Given the description of an element on the screen output the (x, y) to click on. 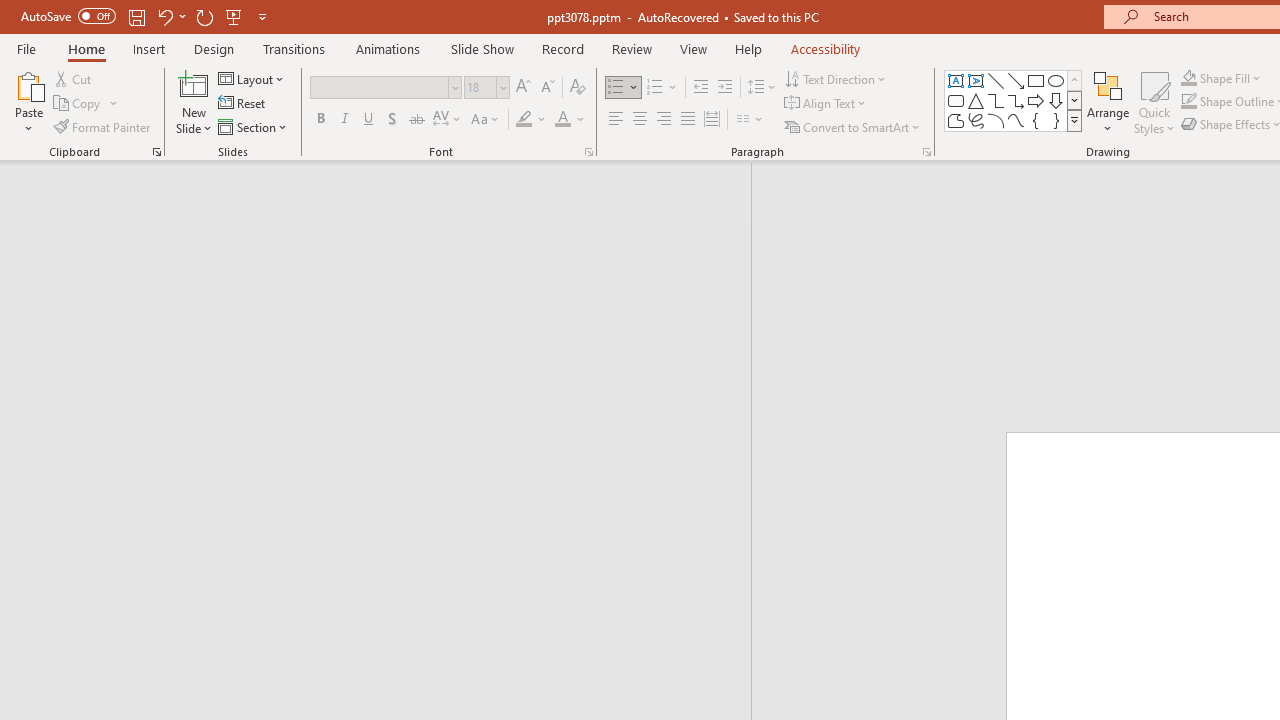
Text Highlight Color (531, 119)
Distributed (712, 119)
Font... (588, 151)
Text Direction (836, 78)
Arc (995, 120)
Layout (252, 78)
Decrease Font Size (547, 87)
Bold (320, 119)
Line (995, 80)
Freeform: Scribble (975, 120)
Shadow (392, 119)
Office Clipboard... (156, 151)
Freeform: Shape (955, 120)
